Given the description of an element on the screen output the (x, y) to click on. 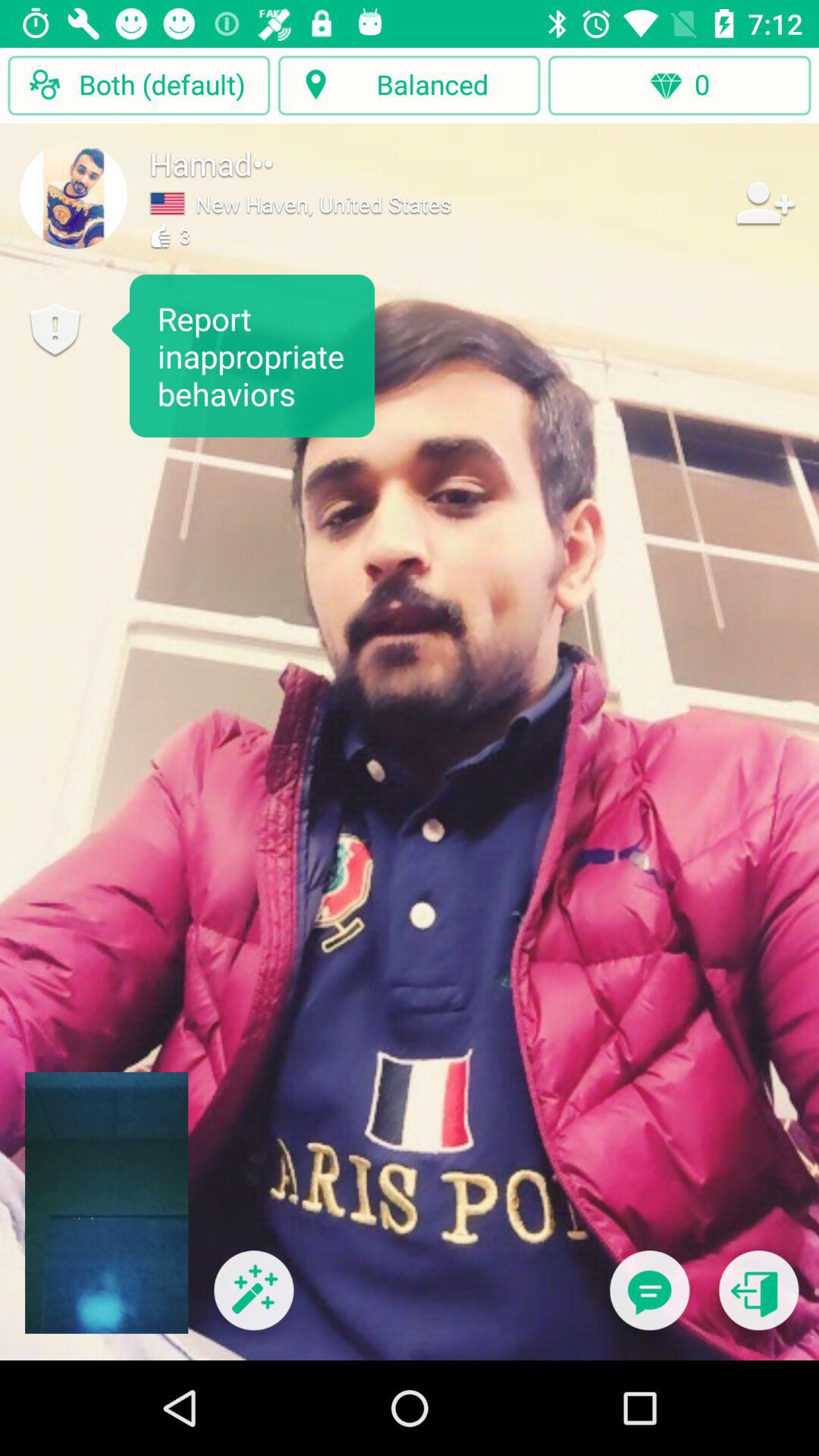
exit call (758, 1300)
